Given the description of an element on the screen output the (x, y) to click on. 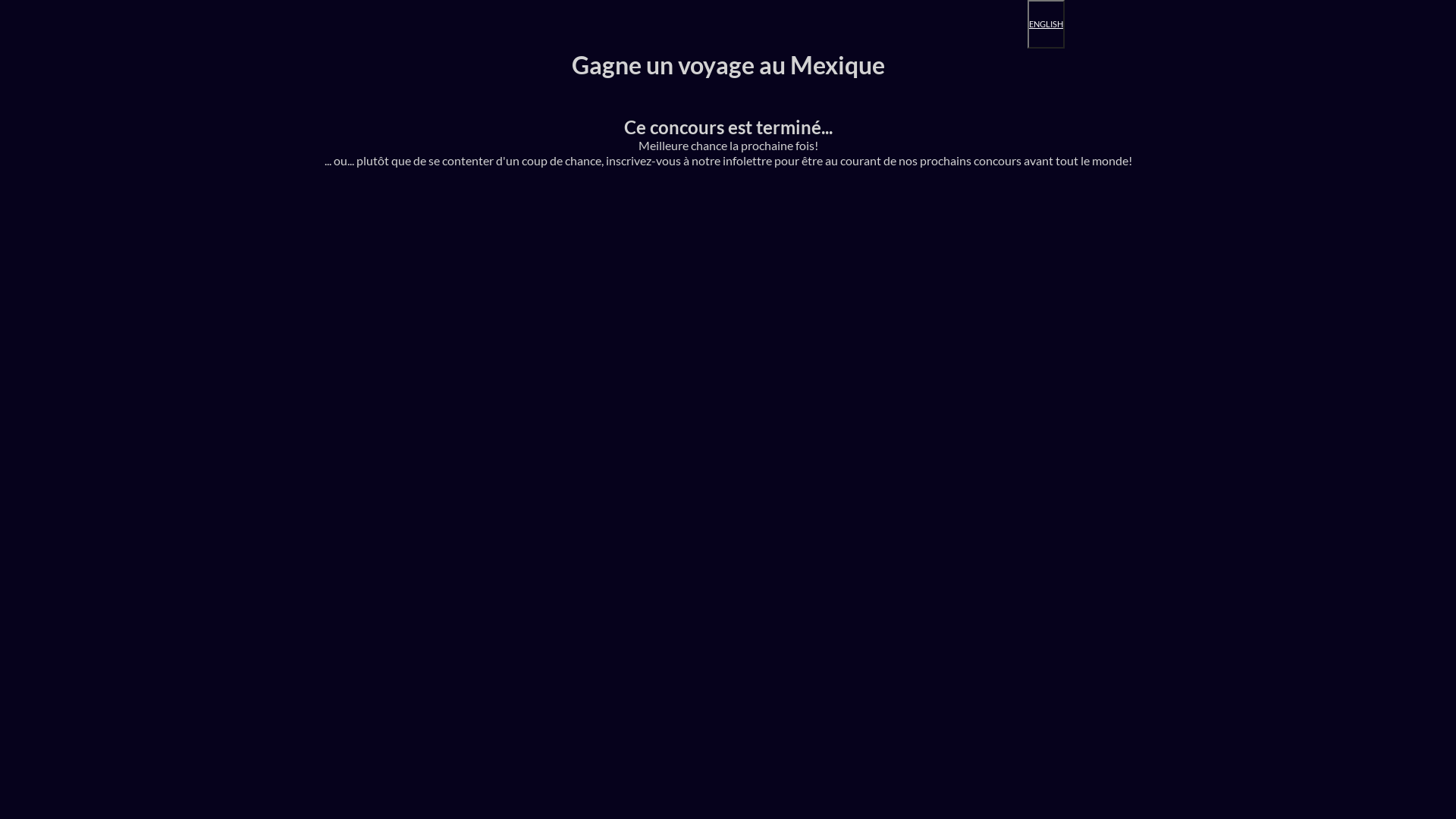
ENGLISH Element type: text (1045, 24)
fr_CA.utf8 Element type: text (538, 24)
